Given the description of an element on the screen output the (x, y) to click on. 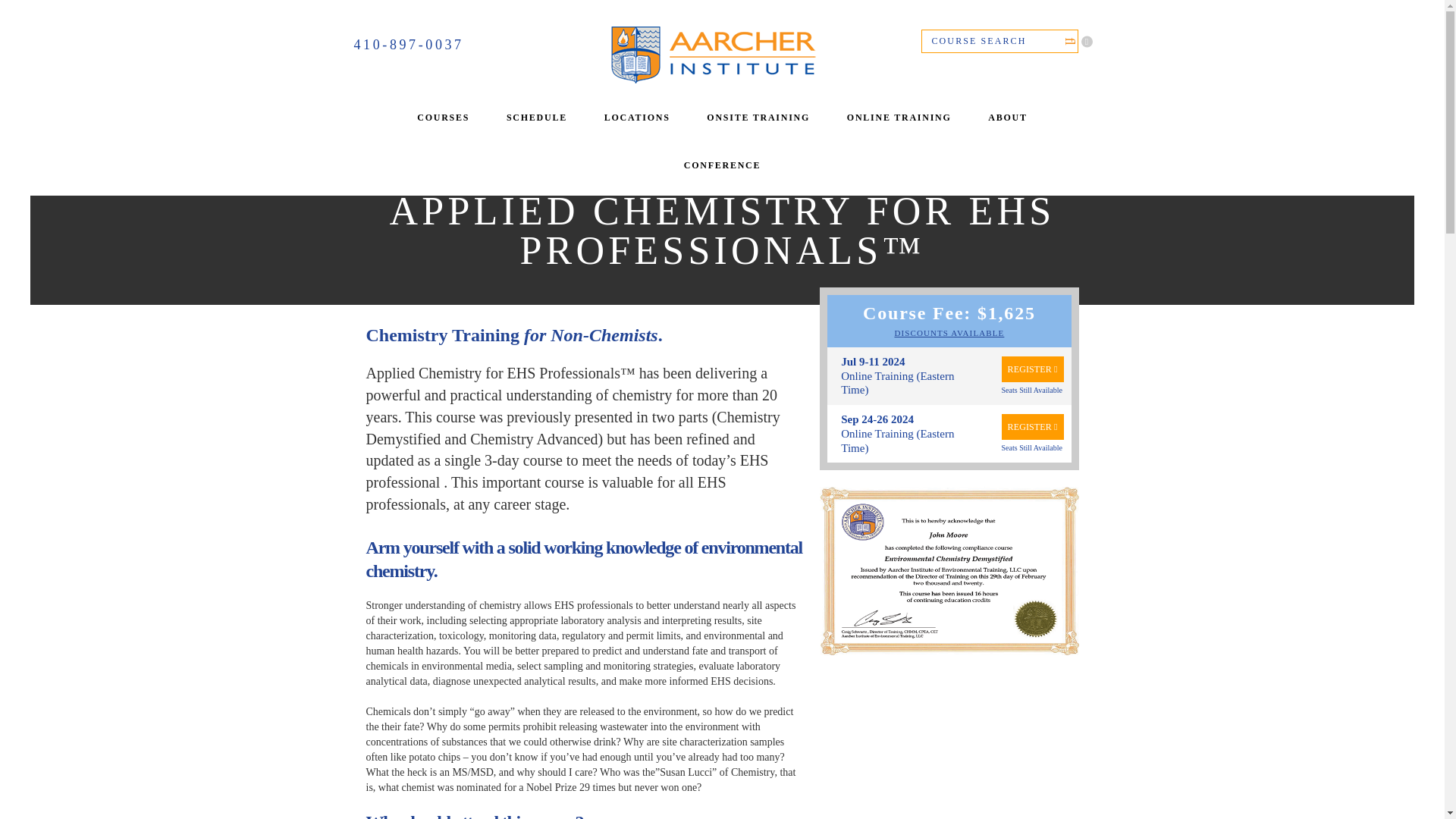
COURSES (443, 117)
SCHEDULE (536, 117)
ONLINE TRAINING (898, 117)
ABOUT (1007, 117)
ONSITE TRAINING (758, 117)
CONFERENCE (722, 165)
410-897-0037 (426, 44)
LOCATIONS (636, 117)
Search for: (998, 41)
